Given the description of an element on the screen output the (x, y) to click on. 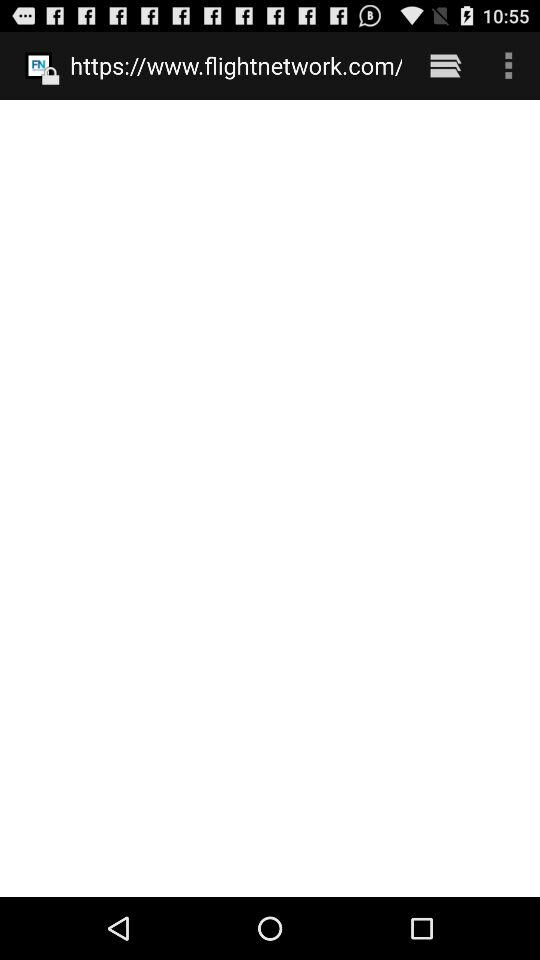
jump to the https www flightnetwork icon (235, 65)
